Given the description of an element on the screen output the (x, y) to click on. 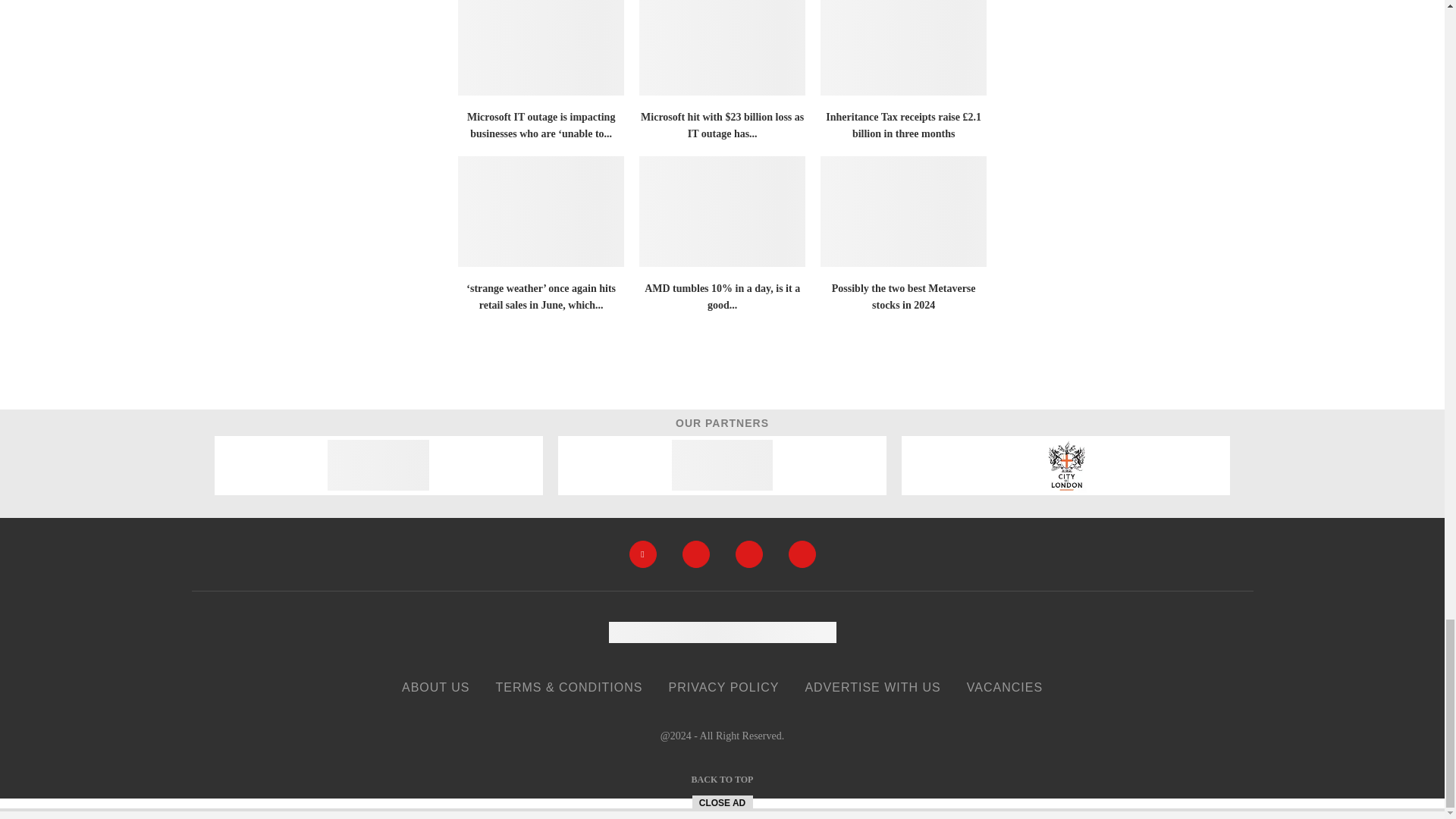
Possibly the two best Metaverse stocks in 2024 (904, 211)
